Given the description of an element on the screen output the (x, y) to click on. 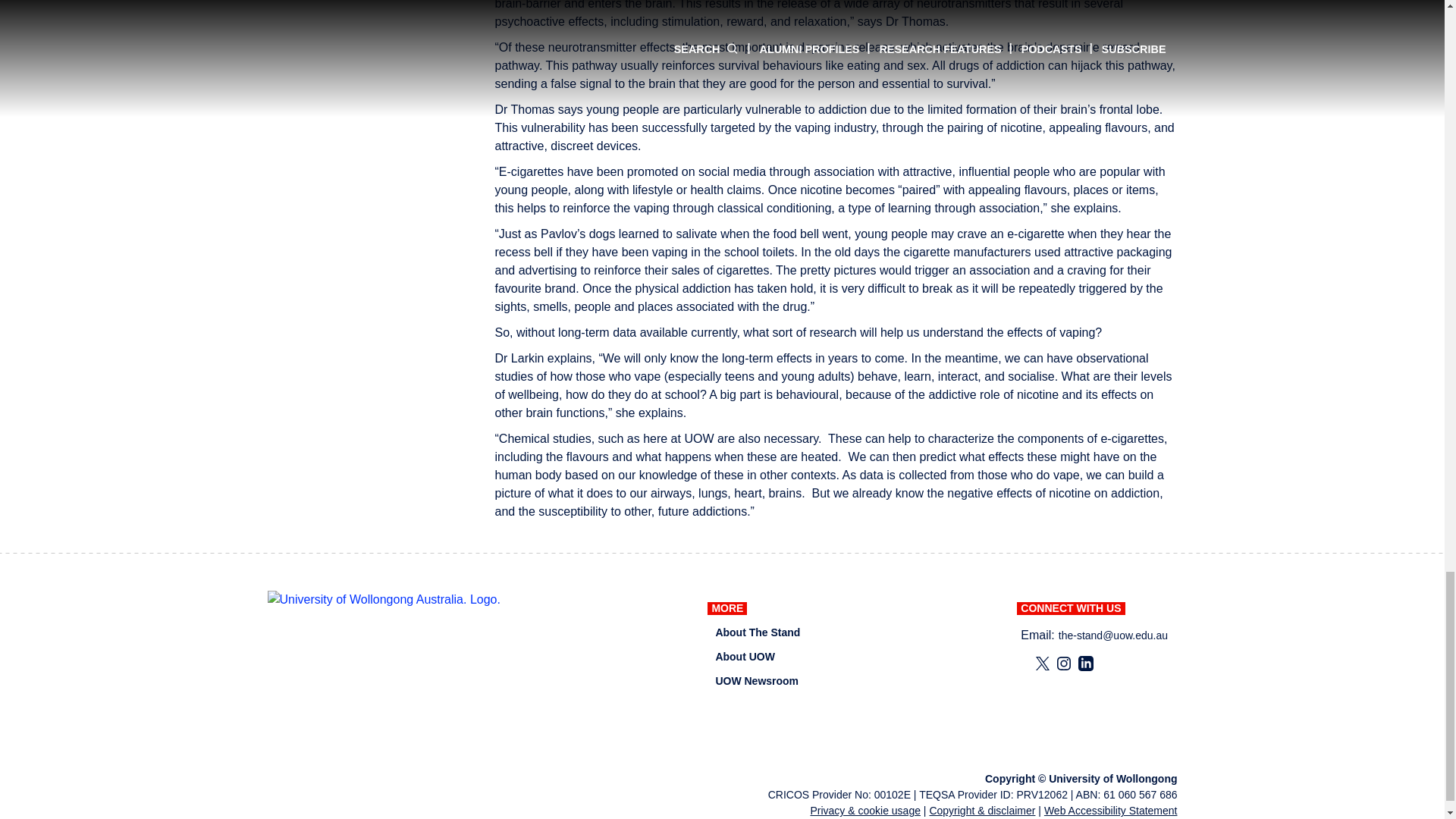
X - formerly known as twitter (1042, 663)
UOW Newsroom (755, 680)
About UOW (744, 656)
About The Stand (756, 632)
LinkedIn (1085, 663)
Instagram (1063, 663)
Web Accessibility Statement (1110, 810)
